Given the description of an element on the screen output the (x, y) to click on. 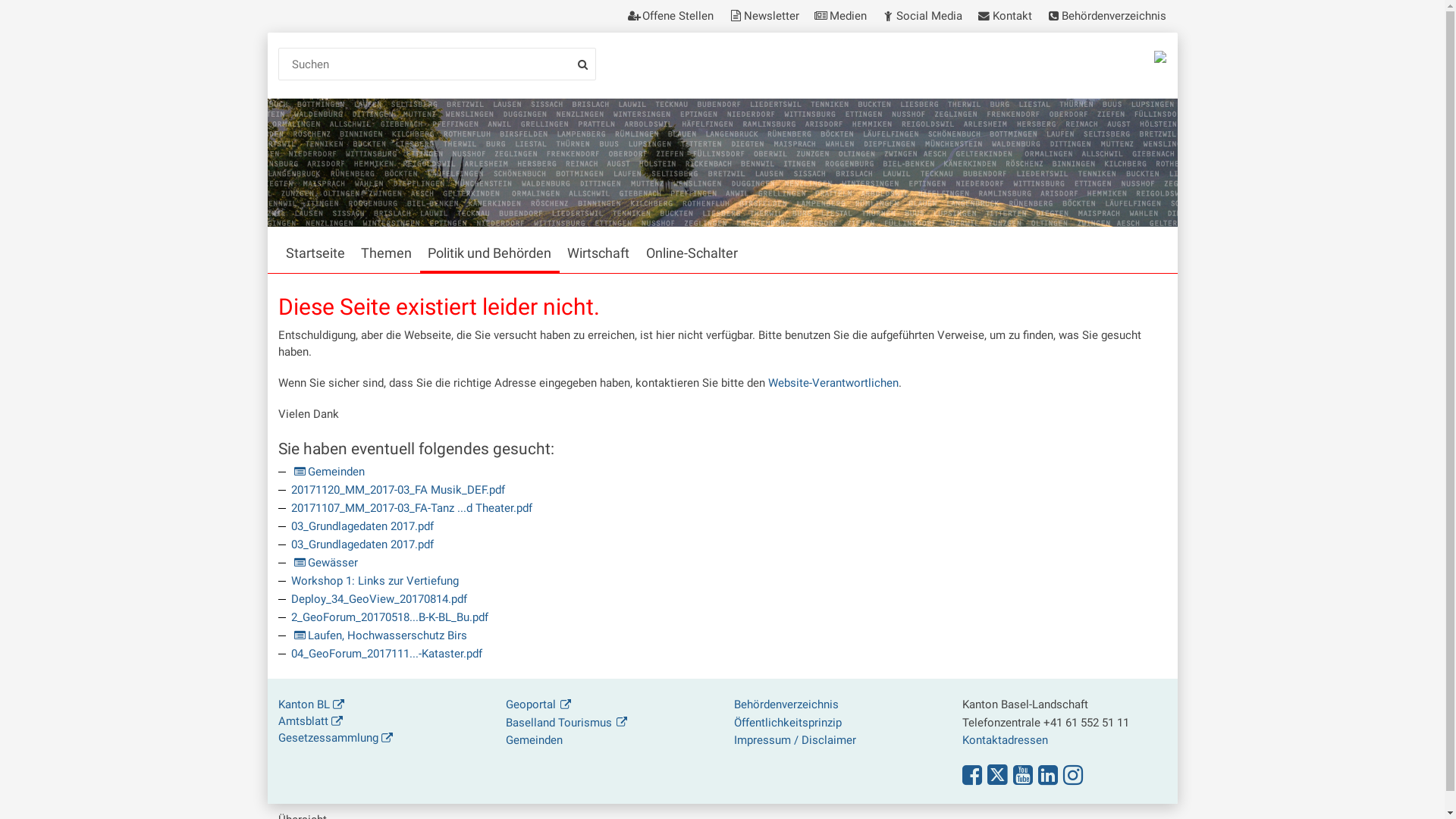
Suchen Element type: hover (437, 63)
Gemeinden Element type: text (533, 739)
Folgen Sie uns auf Instagram Element type: hover (1072, 774)
Wirtschaft Element type: text (598, 249)
Themen Element type: text (386, 249)
Disclaimer Element type: text (828, 739)
Social Media Element type: text (920, 16)
Folgen Sie uns auf Facebook Element type: hover (972, 774)
Impressum / Element type: text (766, 739)
Kontaktadressen Element type: text (1005, 739)
04_GeoForum_2017111...-Kataster.pdf Element type: text (386, 653)
Kontakt Element type: text (1003, 16)
Folgen Sie uns auf YouTube Element type: hover (1022, 774)
20171107_MM_2017-03_FA-Tanz ...d Theater.pdf Element type: text (411, 507)
Medien Element type: text (839, 16)
Gesetzessammlung Element type: text (335, 737)
Geoportal Element type: text (538, 704)
Laufen, Hochwasserschutz Birs Element type: text (379, 635)
Folgen Sie uns auf Twitter Element type: hover (997, 774)
Folgen Sie uns auf LinkedIn Element type: hover (1047, 774)
Online-Schalter Element type: text (691, 249)
Newsletter Element type: text (763, 16)
Amtsblatt Element type: text (310, 721)
Baselland Tourismus Element type: text (566, 722)
Deploy_34_GeoView_20170814.pdf Element type: text (379, 598)
Startseite Element type: text (315, 249)
Website-Verantwortlichen Element type: text (833, 382)
Kanton BL Element type: text (311, 704)
20171120_MM_2017-03_FA Musik_DEF.pdf Element type: text (398, 489)
2_GeoForum_20170518...B-K-BL_Bu.pdf Element type: text (389, 617)
Workshop 1: Links zur Vertiefung Element type: text (374, 580)
03_Grundlagedaten 2017.pdf Element type: text (362, 544)
03_Grundlagedaten 2017.pdf Element type: text (362, 526)
Offene Stellen Element type: text (672, 16)
Gemeinden Element type: text (327, 471)
